Given the description of an element on the screen output the (x, y) to click on. 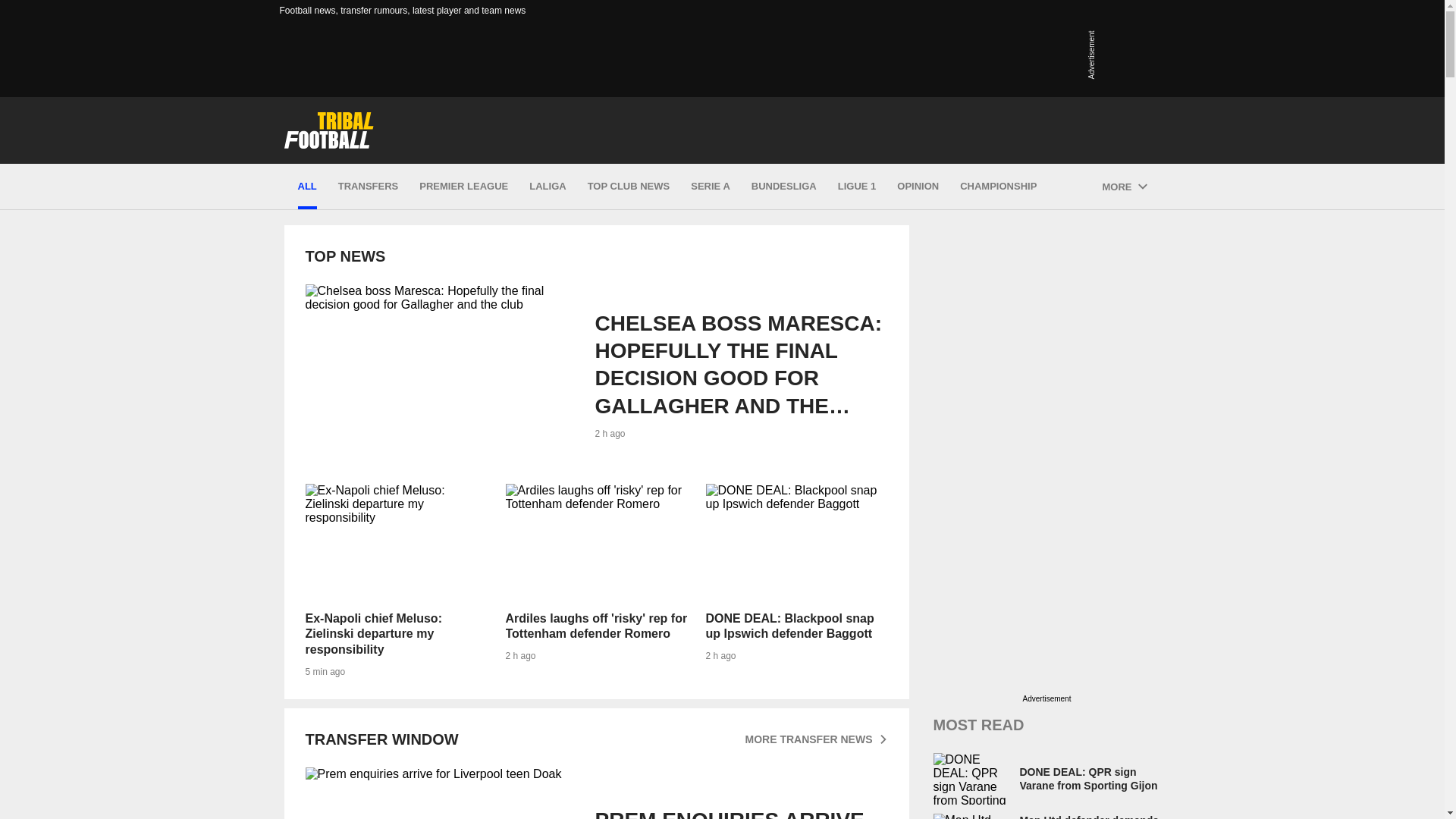
OPINION (917, 186)
Prem enquiries arrive for Liverpool teen Doak (595, 793)
Prem enquiries arrive for Liverpool teen Doak (595, 793)
Ardiles laughs off 'risky' rep for Tottenham defender Romero (440, 793)
TRANSFERS (596, 581)
